Given the description of an element on the screen output the (x, y) to click on. 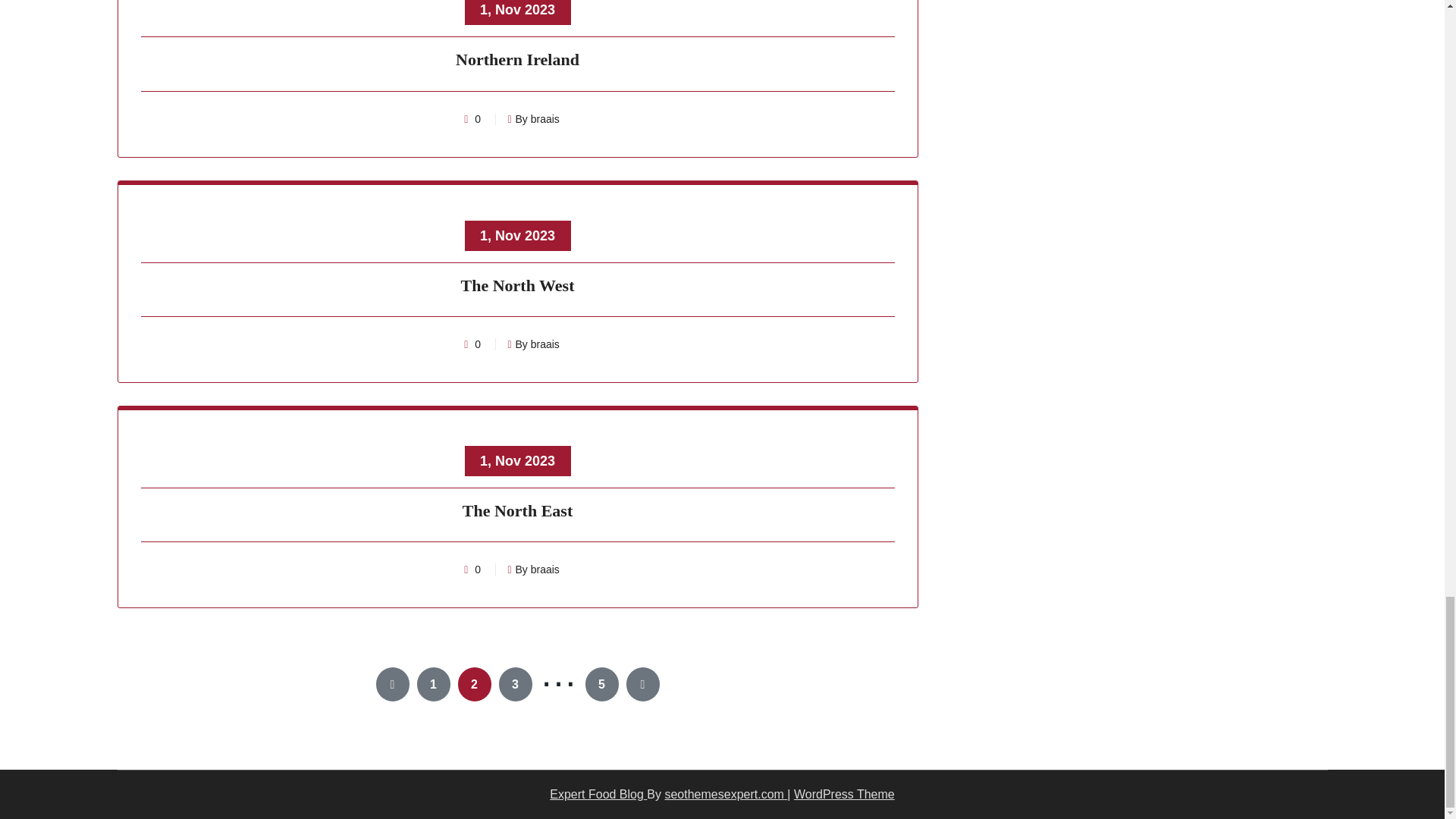
0 (478, 119)
The North West (518, 287)
By braais (532, 119)
Northern Ireland (518, 62)
0 (478, 344)
